Given the description of an element on the screen output the (x, y) to click on. 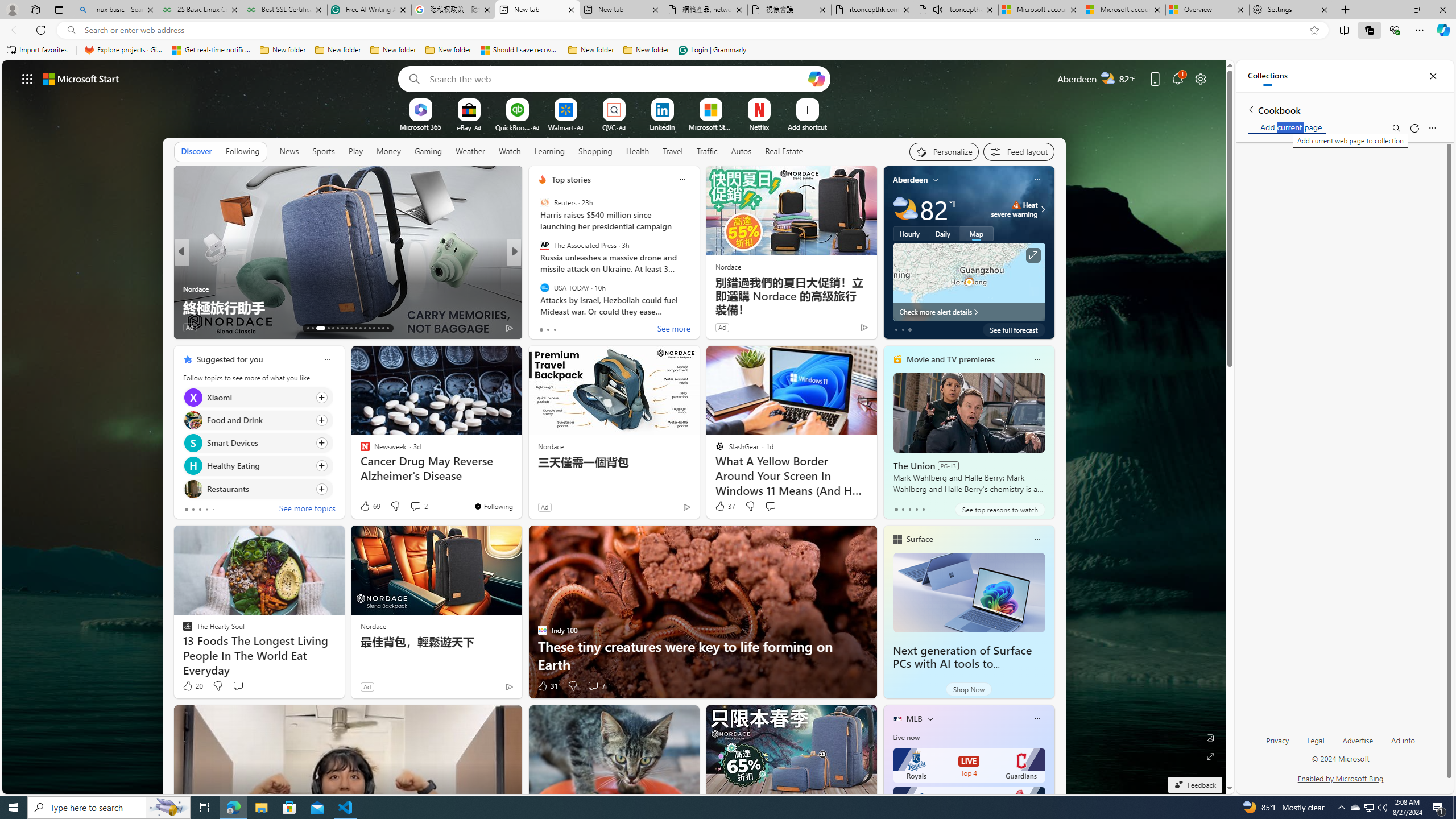
Partly cloudy (904, 208)
tab-3 (916, 509)
More interests (930, 718)
2 Like (541, 327)
View comments 70 Comment (597, 327)
